Given the description of an element on the screen output the (x, y) to click on. 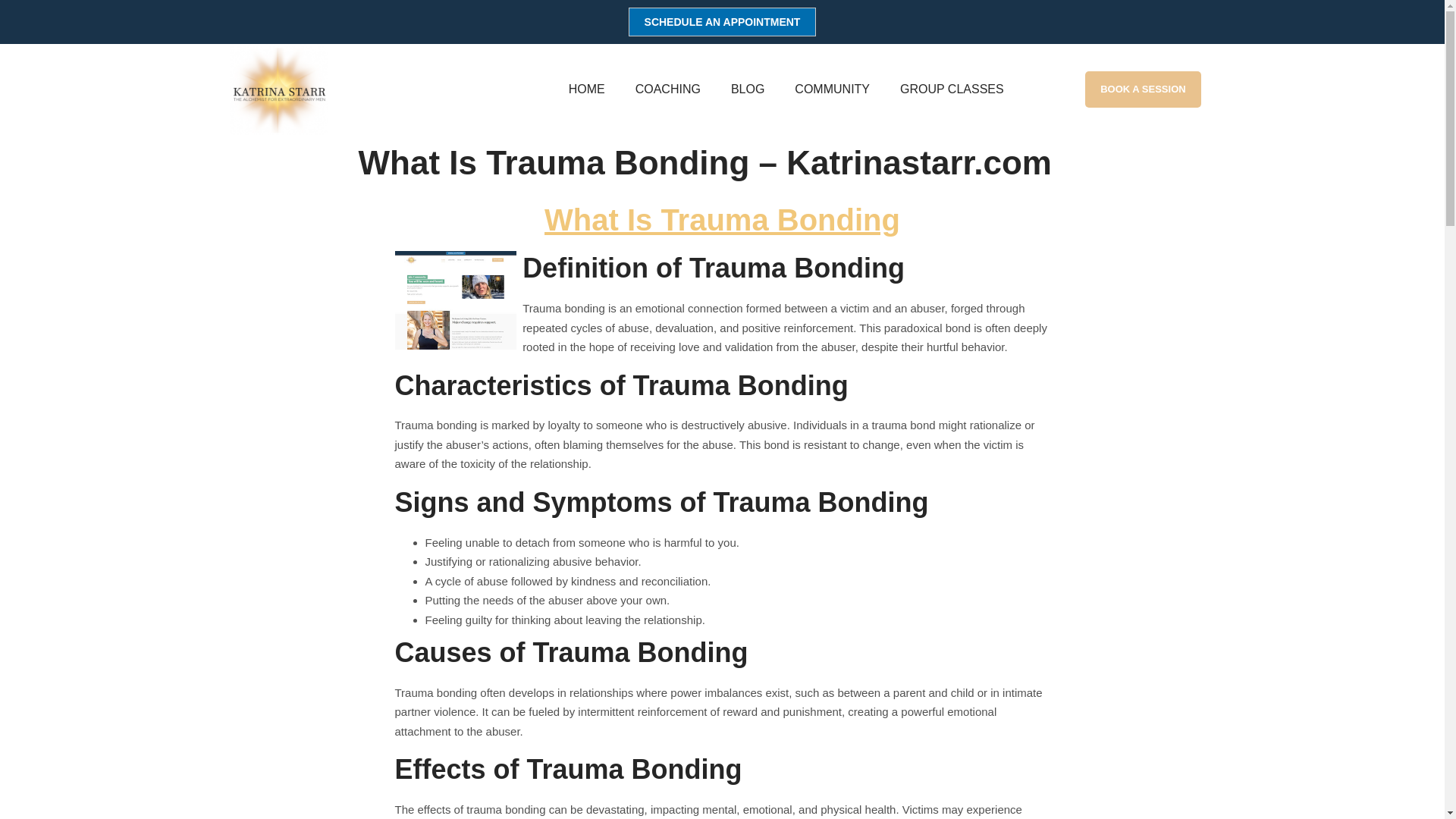
BLOG (747, 89)
BOOK A SESSION (1141, 89)
GROUP CLASSES (951, 89)
HOME (587, 89)
COACHING (667, 89)
SCHEDULE AN APPOINTMENT (722, 21)
What Is Trauma Bonding (721, 219)
COMMUNITY (831, 89)
SCHEDULE AN APPOINTMENT (722, 21)
